Given the description of an element on the screen output the (x, y) to click on. 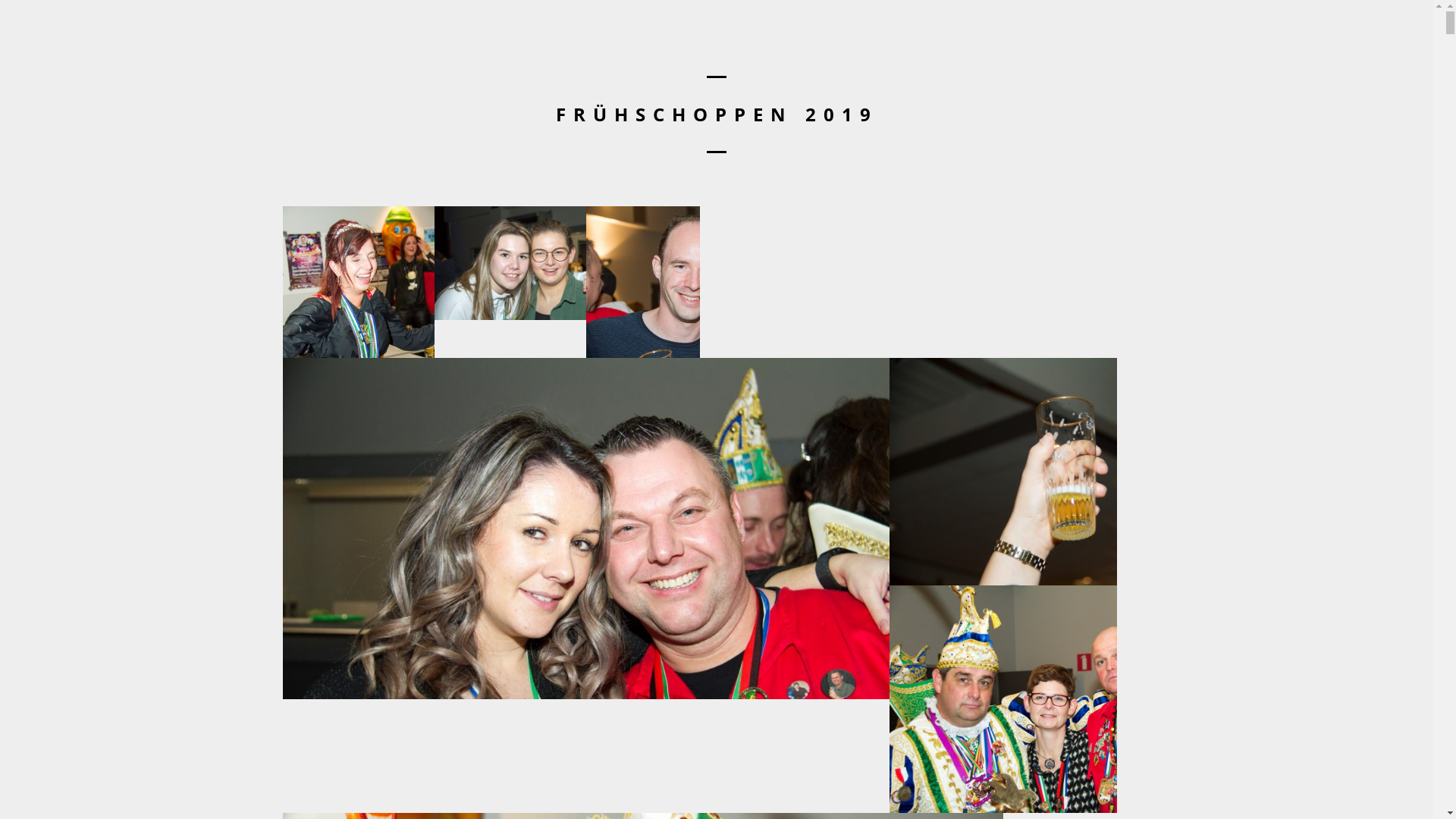
fruhschoppen 2019 407 (Kopie) Element type: hover (358, 281)
fruhschoppen 2019 402 (Kopie) Element type: hover (1003, 471)
fruhschoppen 2019 404 (Kopie) Element type: hover (642, 281)
fruhschoppen 2019 403 (Kopie) Element type: hover (585, 528)
fruhschoppen 2019 405 (Kopie) Element type: hover (510, 263)
fruhschoppen 2019 401 (Kopie) Element type: hover (1003, 698)
